Given the description of an element on the screen output the (x, y) to click on. 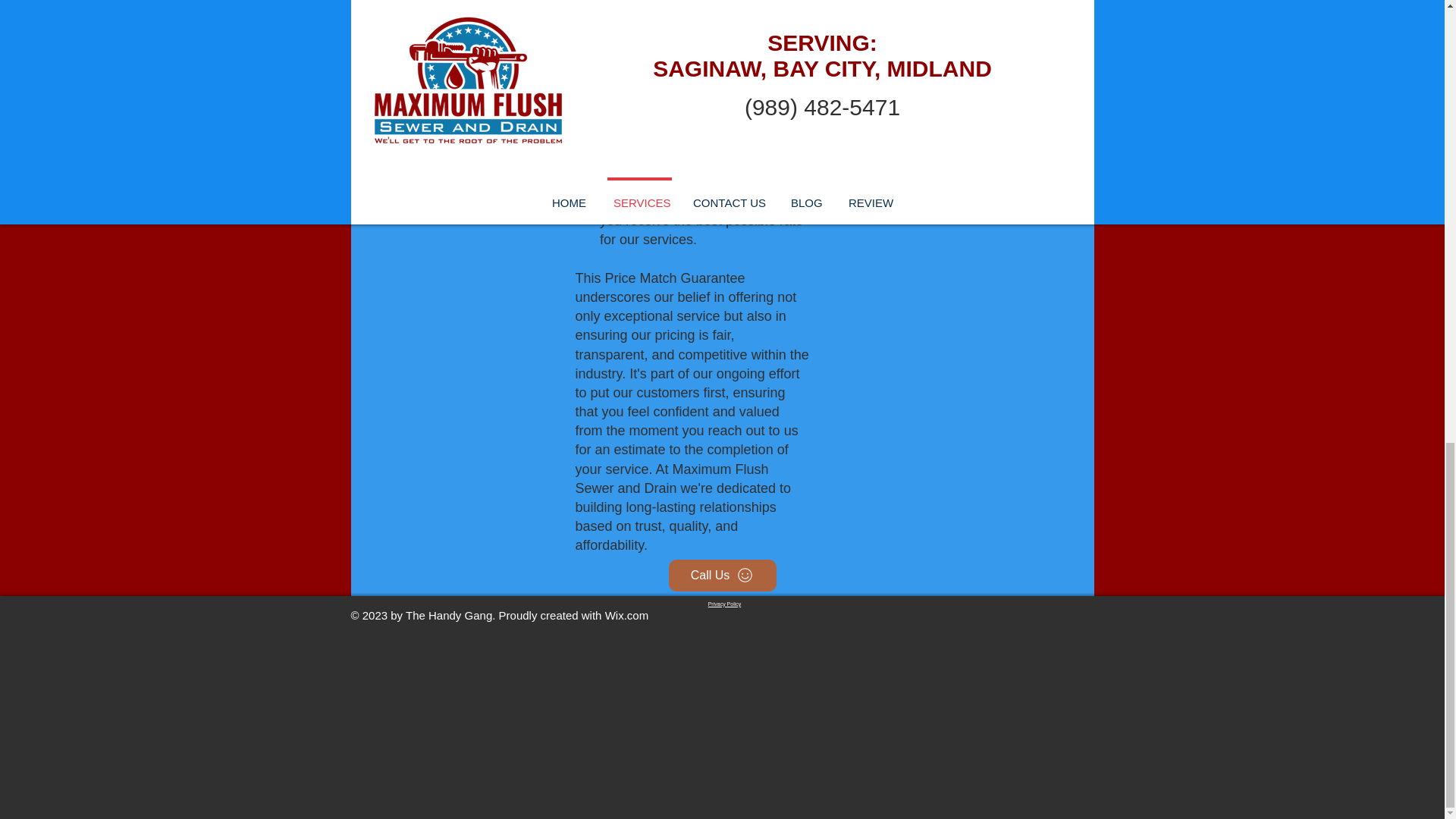
Call Us (722, 575)
Wix.com (627, 615)
Privacy Policy (724, 603)
